Given the description of an element on the screen output the (x, y) to click on. 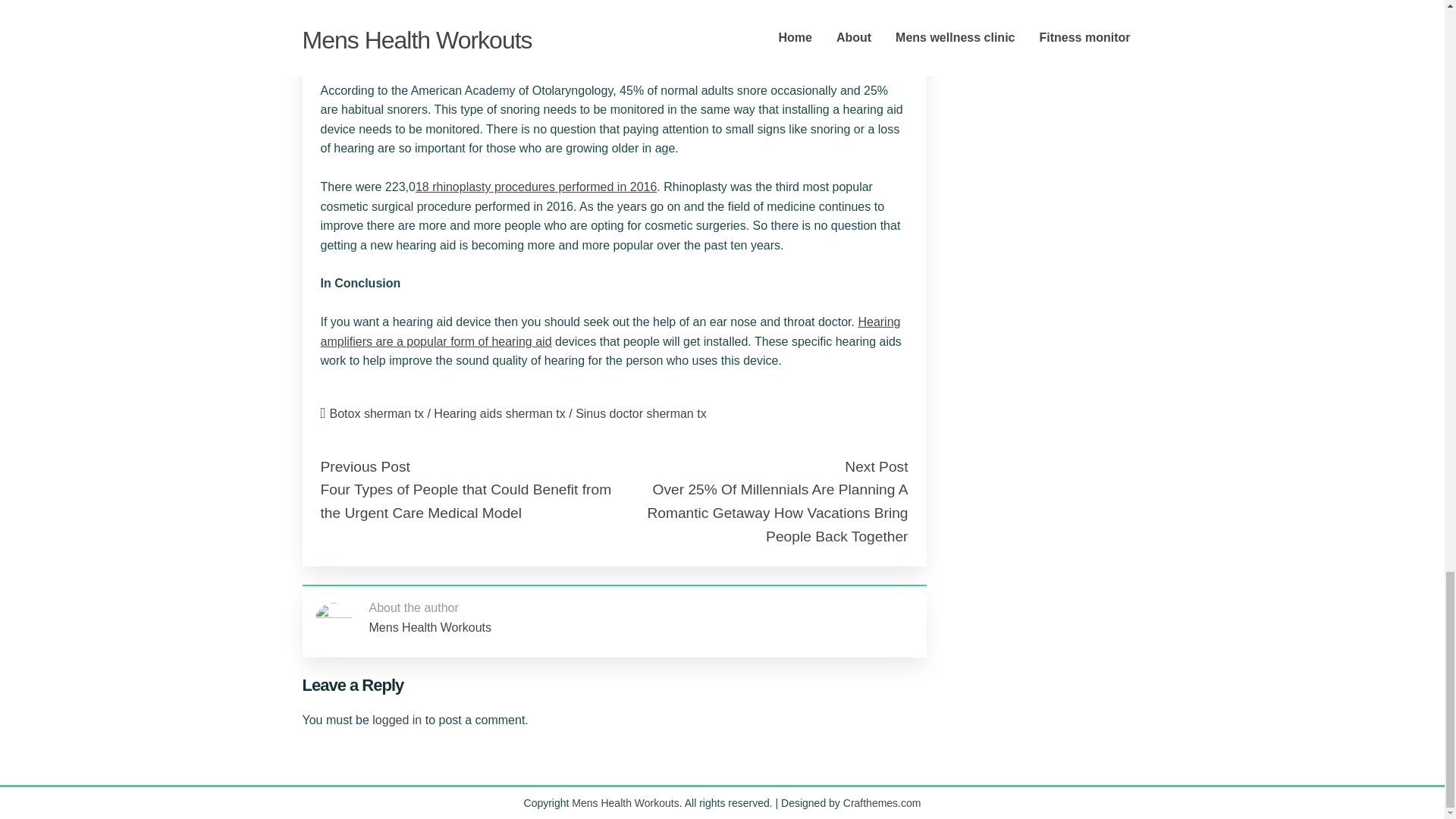
Mens Health Workouts (430, 626)
Throat cancer treatment sherman tx, Hearing aids (609, 331)
Next Post (875, 466)
Crafthemes.com (882, 802)
logged in (397, 719)
Read more on Nose doctor sherman tx (535, 186)
Sinus doctor sherman tx (640, 413)
Hearing aids sherman tx (498, 413)
Botox sherman tx (377, 413)
